Given the description of an element on the screen output the (x, y) to click on. 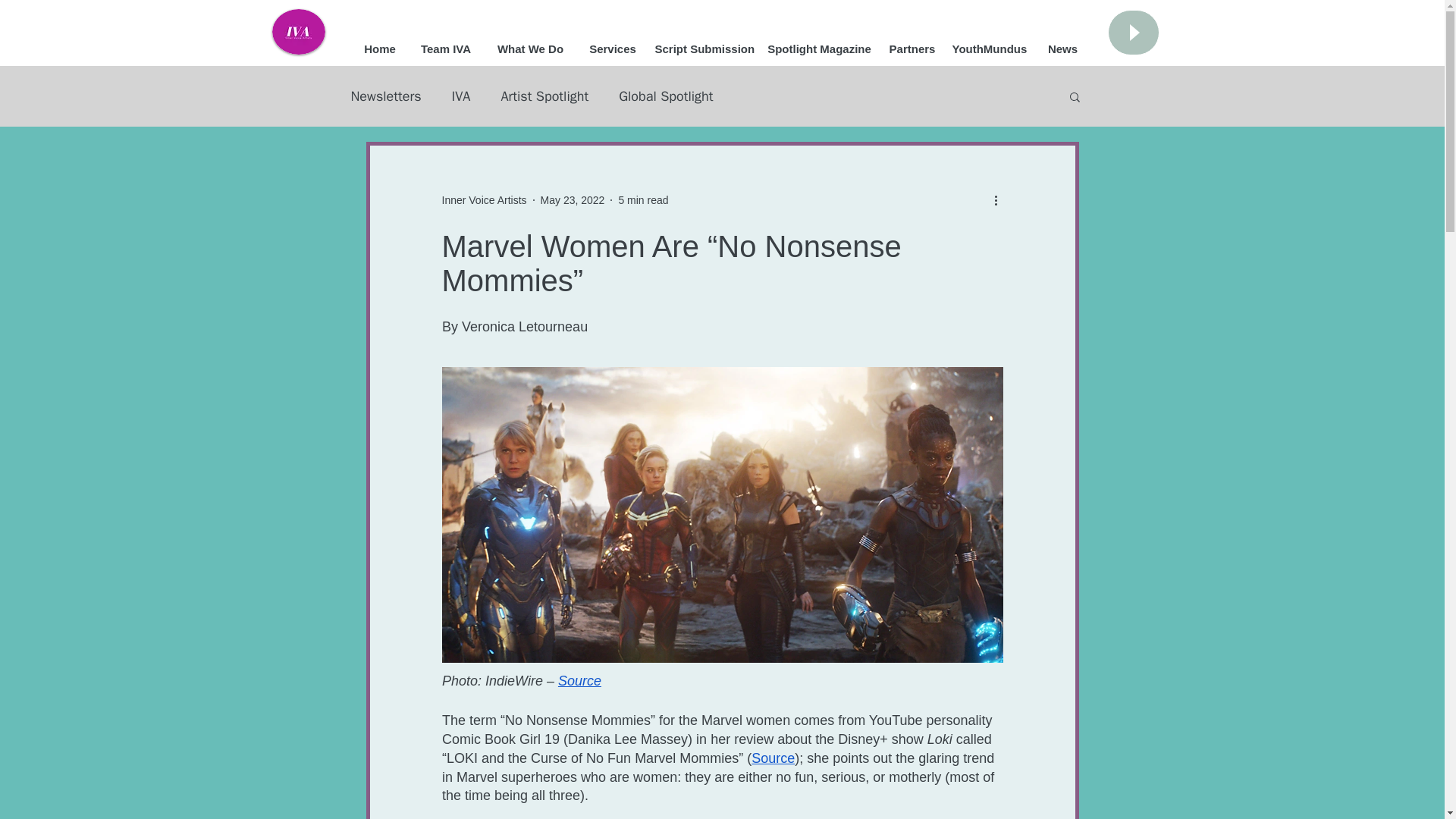
YouthMundus (988, 48)
Home (379, 48)
Script Submission (702, 48)
News (1062, 48)
Global Spotlight (665, 95)
Newsletters (385, 95)
May 23, 2022 (572, 200)
Spotlight Magazine (818, 48)
Partners (911, 48)
Services (612, 48)
Artist Spotlight (544, 95)
What We Do (529, 48)
Source (772, 758)
Source (578, 680)
5 min read (642, 200)
